Given the description of an element on the screen output the (x, y) to click on. 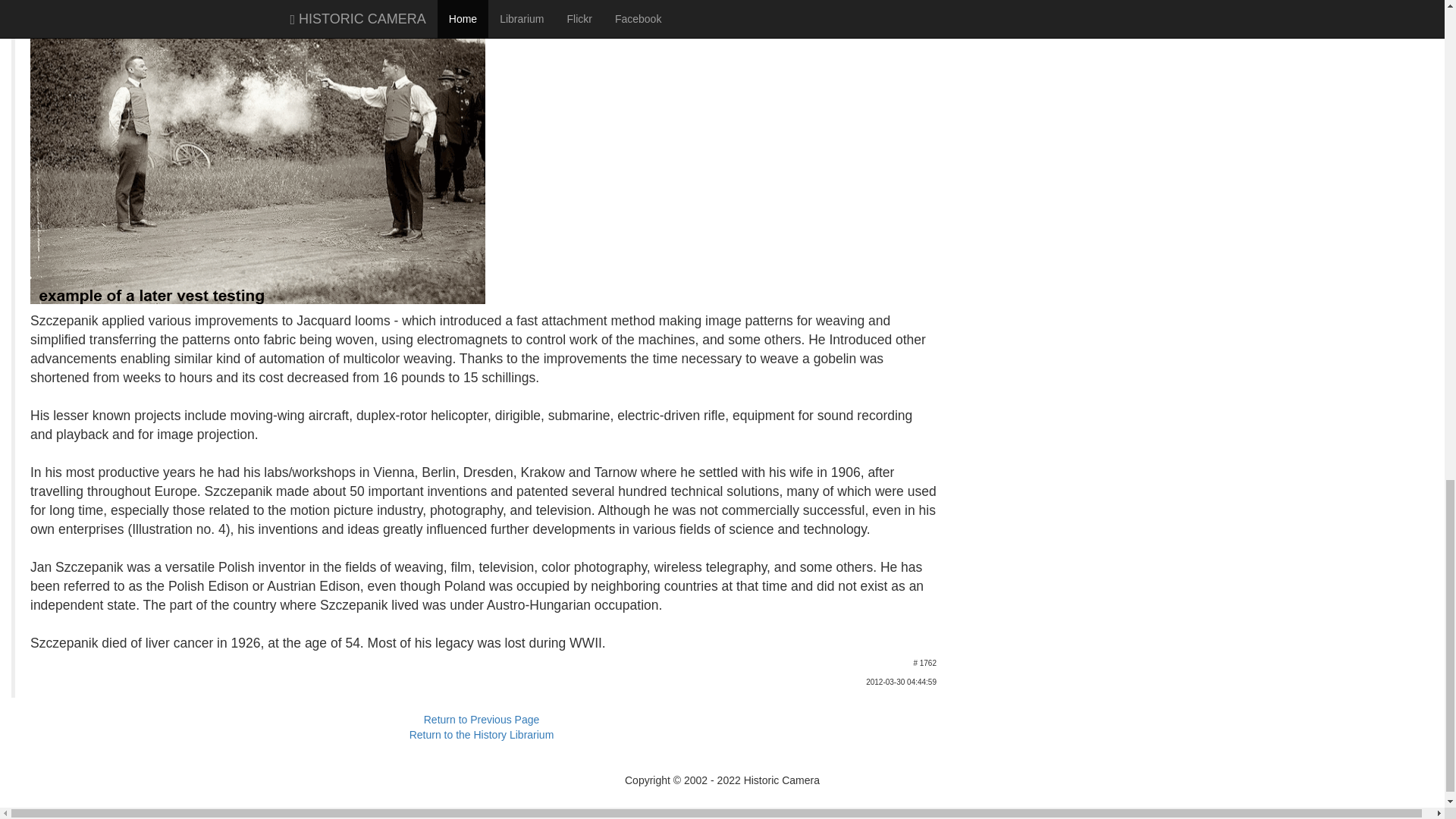
Return to the History Librarium (481, 734)
Return to Previous Page (481, 719)
